Given the description of an element on the screen output the (x, y) to click on. 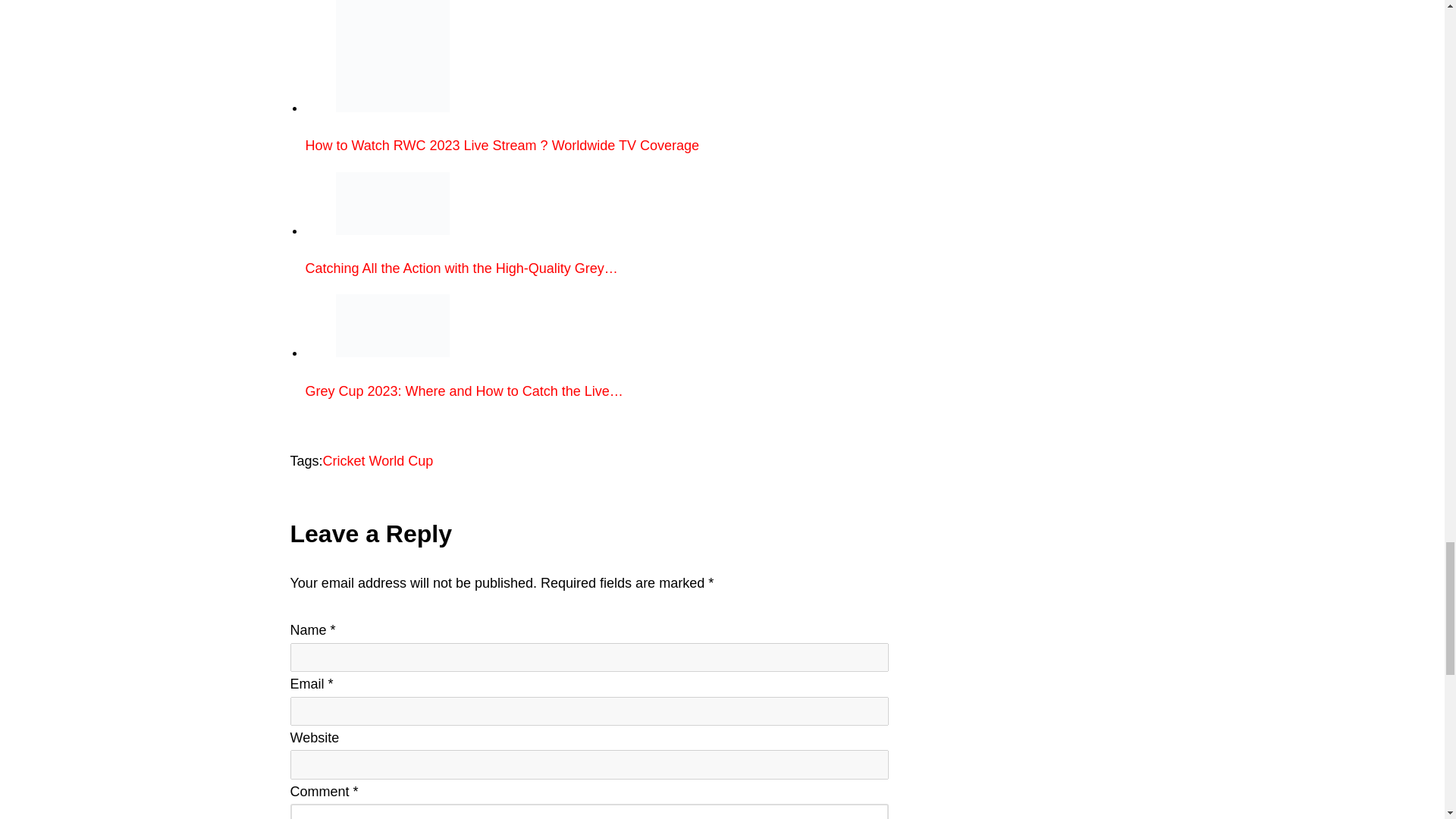
Cricket World Cup (378, 460)
How to Watch RWC 2023 Live Stream ? Worldwide TV Coverage (391, 56)
